Given the description of an element on the screen output the (x, y) to click on. 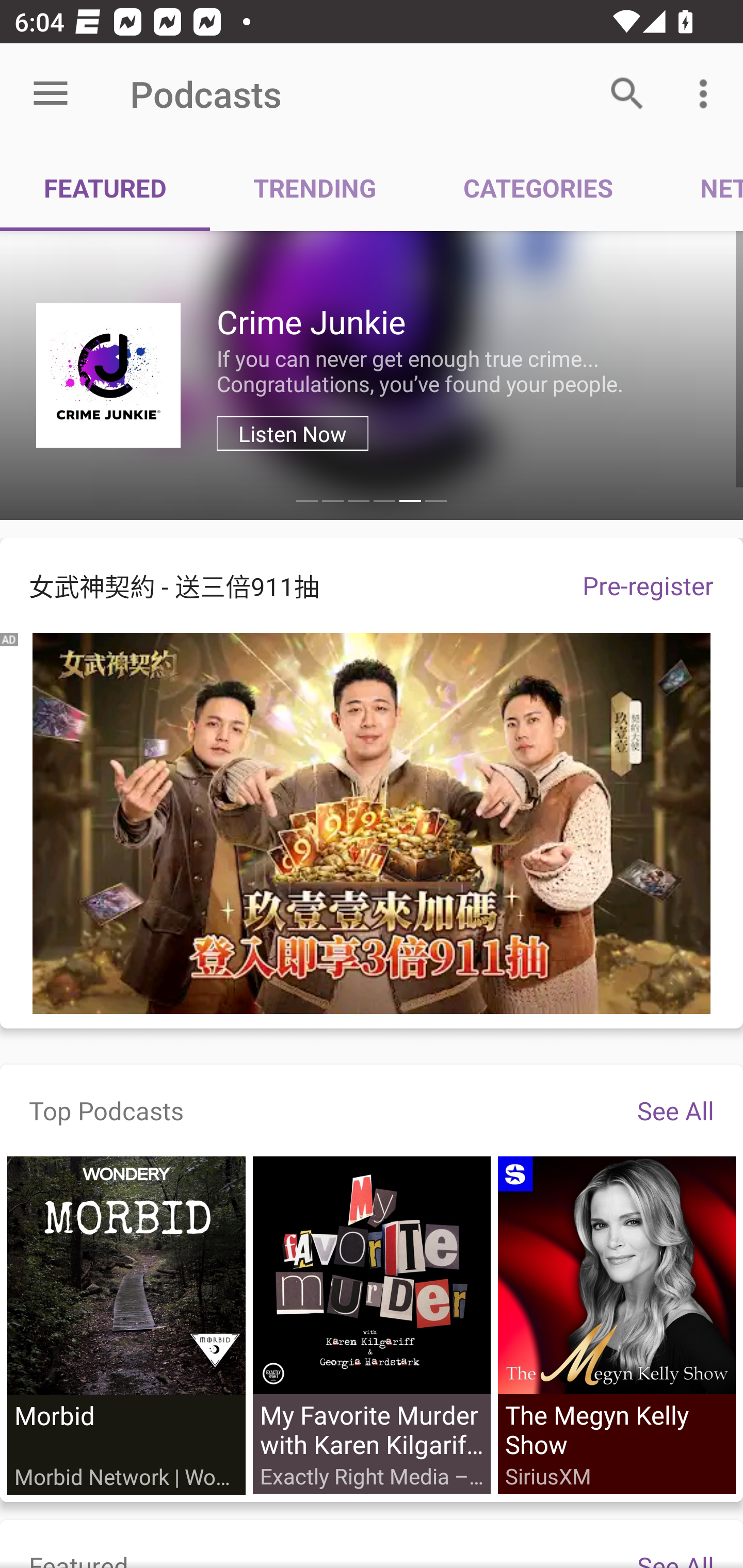
Open menu (50, 93)
Search (626, 93)
More options (706, 93)
FEATURED (105, 187)
TRENDING (314, 187)
CATEGORIES (537, 187)
女武神契約 - 送三倍911抽 (276, 585)
Pre-register (648, 584)
Top Podcasts (106, 1109)
See All (675, 1109)
Morbid Morbid Network | Wondery (126, 1325)
The Megyn Kelly Show SiriusXM (616, 1325)
